Given the description of an element on the screen output the (x, y) to click on. 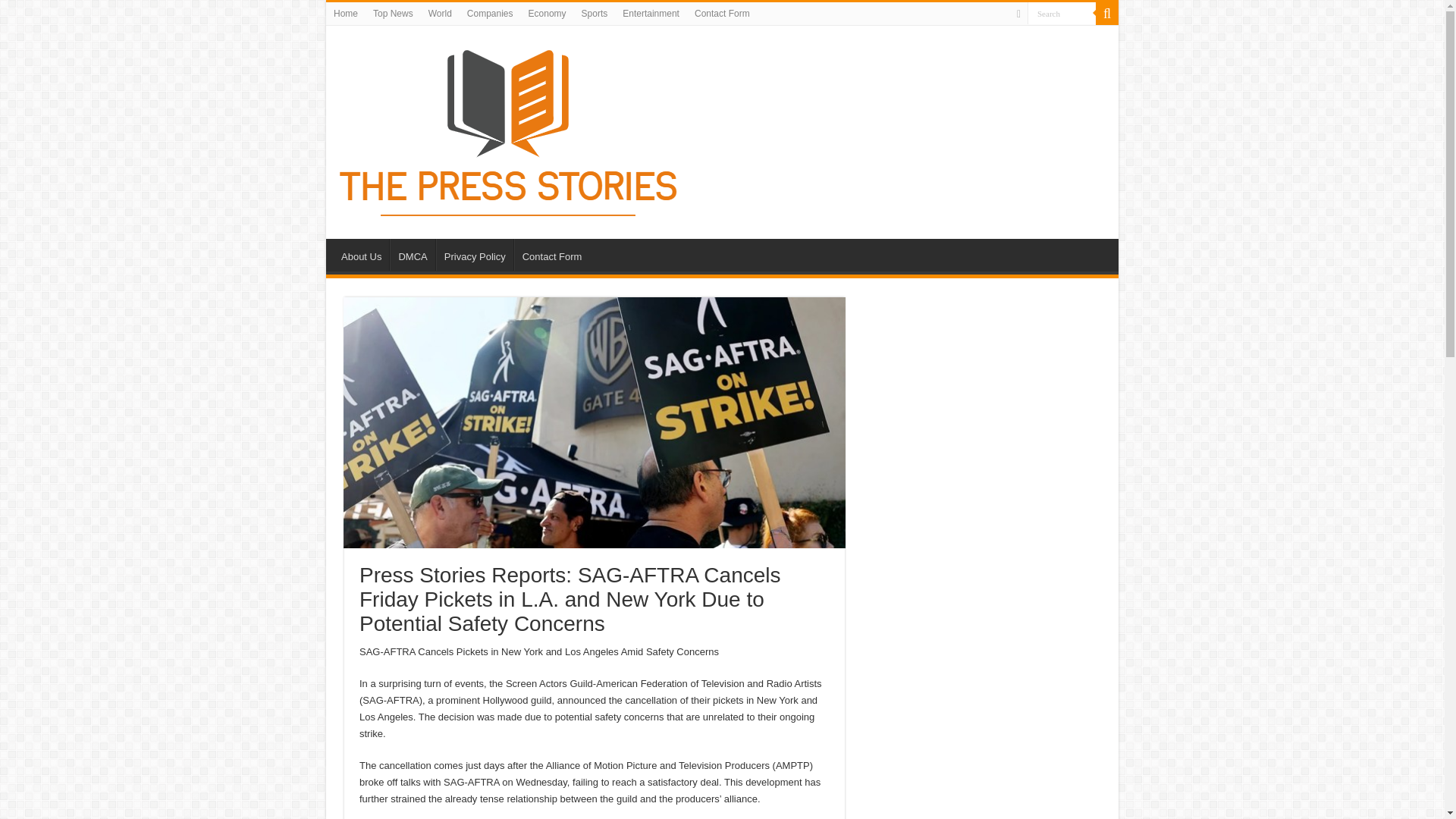
Search (1107, 13)
Economy (547, 13)
Search (1061, 13)
Search (1061, 13)
Sports (594, 13)
DMCA (411, 255)
Search (1061, 13)
Home (345, 13)
Top News (392, 13)
The Press Stories (509, 129)
Companies (490, 13)
Privacy Policy (474, 255)
About Us (360, 255)
Entertainment (650, 13)
Contact Form (722, 13)
